Given the description of an element on the screen output the (x, y) to click on. 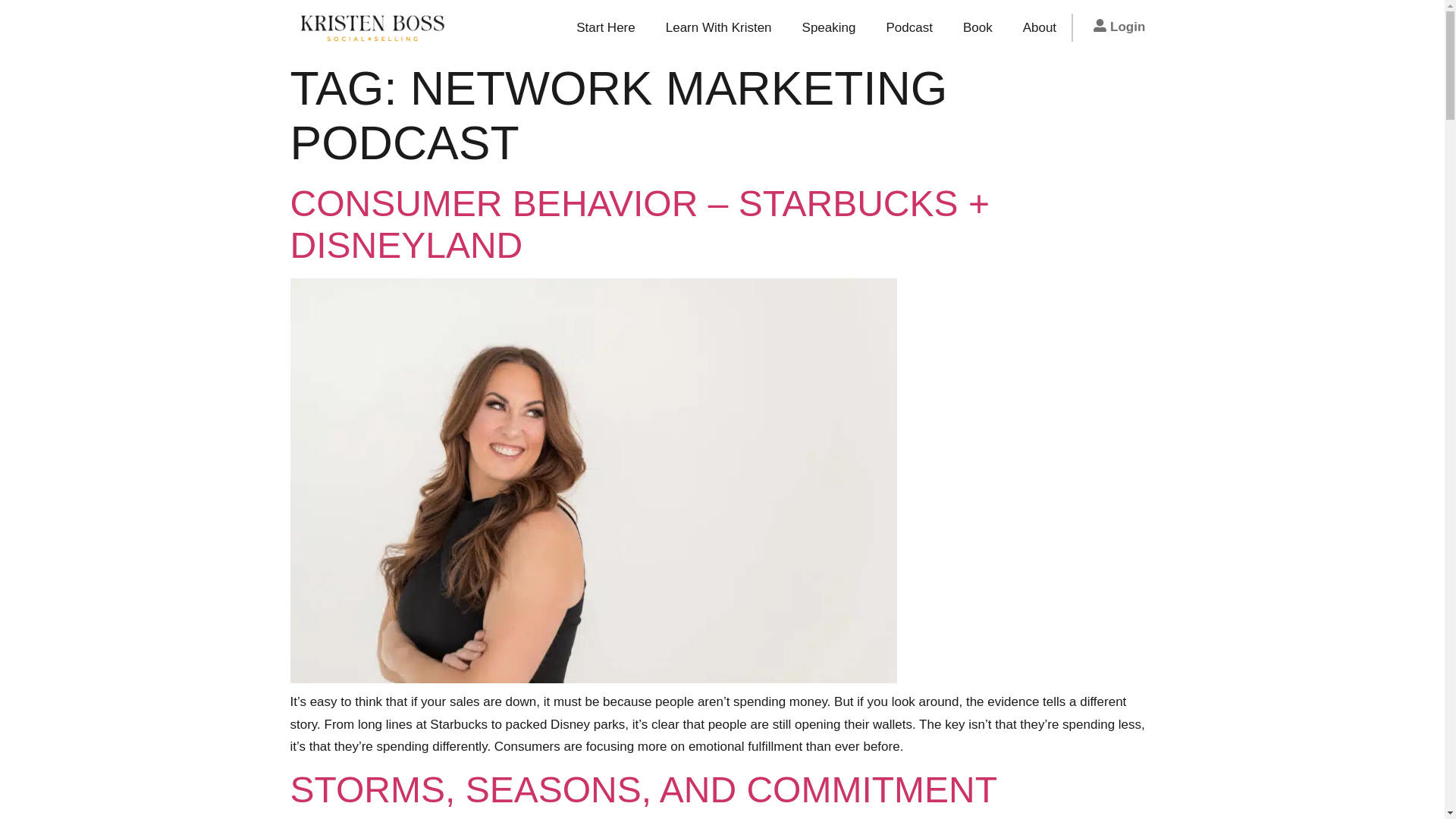
Book (977, 27)
STORMS, SEASONS, AND COMMITMENT (643, 789)
About (1039, 27)
Learn With Kristen (718, 27)
Start Here (604, 27)
Podcast (908, 27)
Speaking (828, 27)
Login (1118, 27)
